Given the description of an element on the screen output the (x, y) to click on. 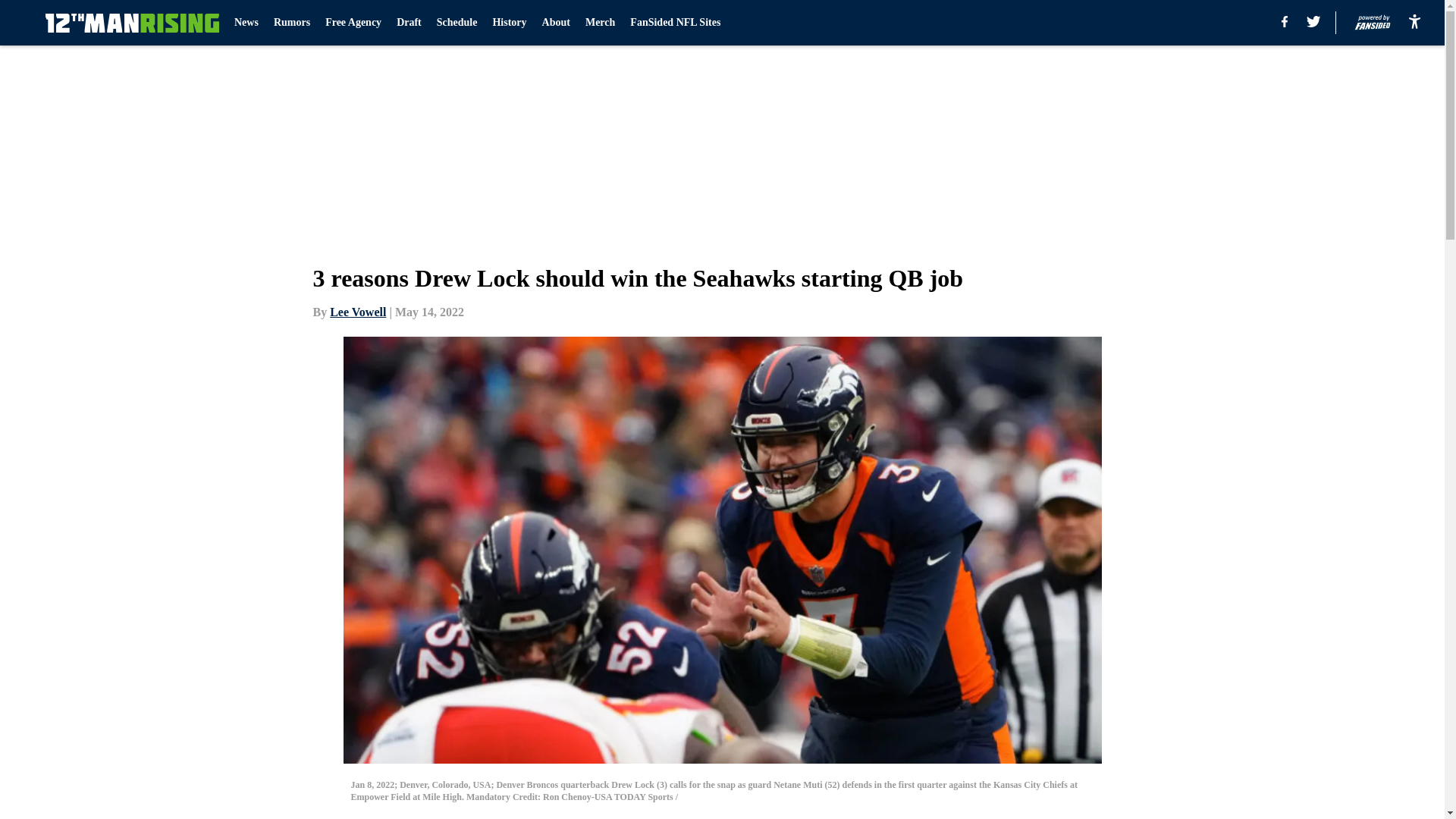
Free Agency (352, 22)
About (555, 22)
Lee Vowell (357, 311)
Merch (599, 22)
News (246, 22)
Schedule (456, 22)
Draft (409, 22)
Rumors (291, 22)
FanSided NFL Sites (675, 22)
History (508, 22)
